Given the description of an element on the screen output the (x, y) to click on. 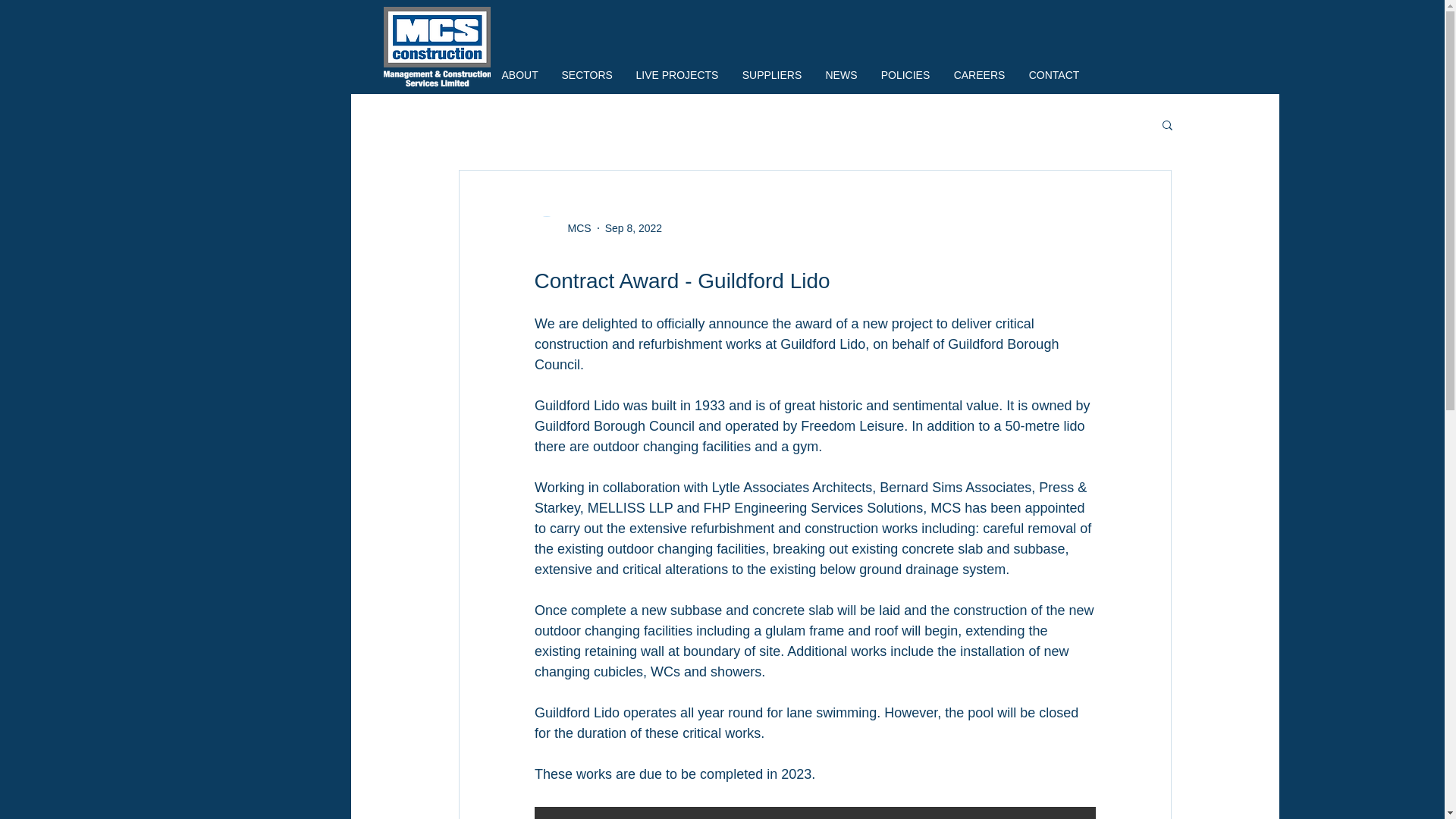
SECTORS (587, 75)
MELLISS LLP (629, 507)
SUPPLIERS (771, 75)
FHP Engineering Services Solutions (813, 507)
Bernard Sims Associates (954, 487)
Sep 8, 2022 (633, 227)
CAREERS (979, 75)
NEWS (841, 75)
MCS  (574, 227)
LIVE PROJECTS (677, 75)
Freedom Leisure (852, 426)
ABOUT (518, 75)
MCS (562, 228)
Guildford Borough Council (797, 354)
CONTACT (1053, 75)
